Given the description of an element on the screen output the (x, y) to click on. 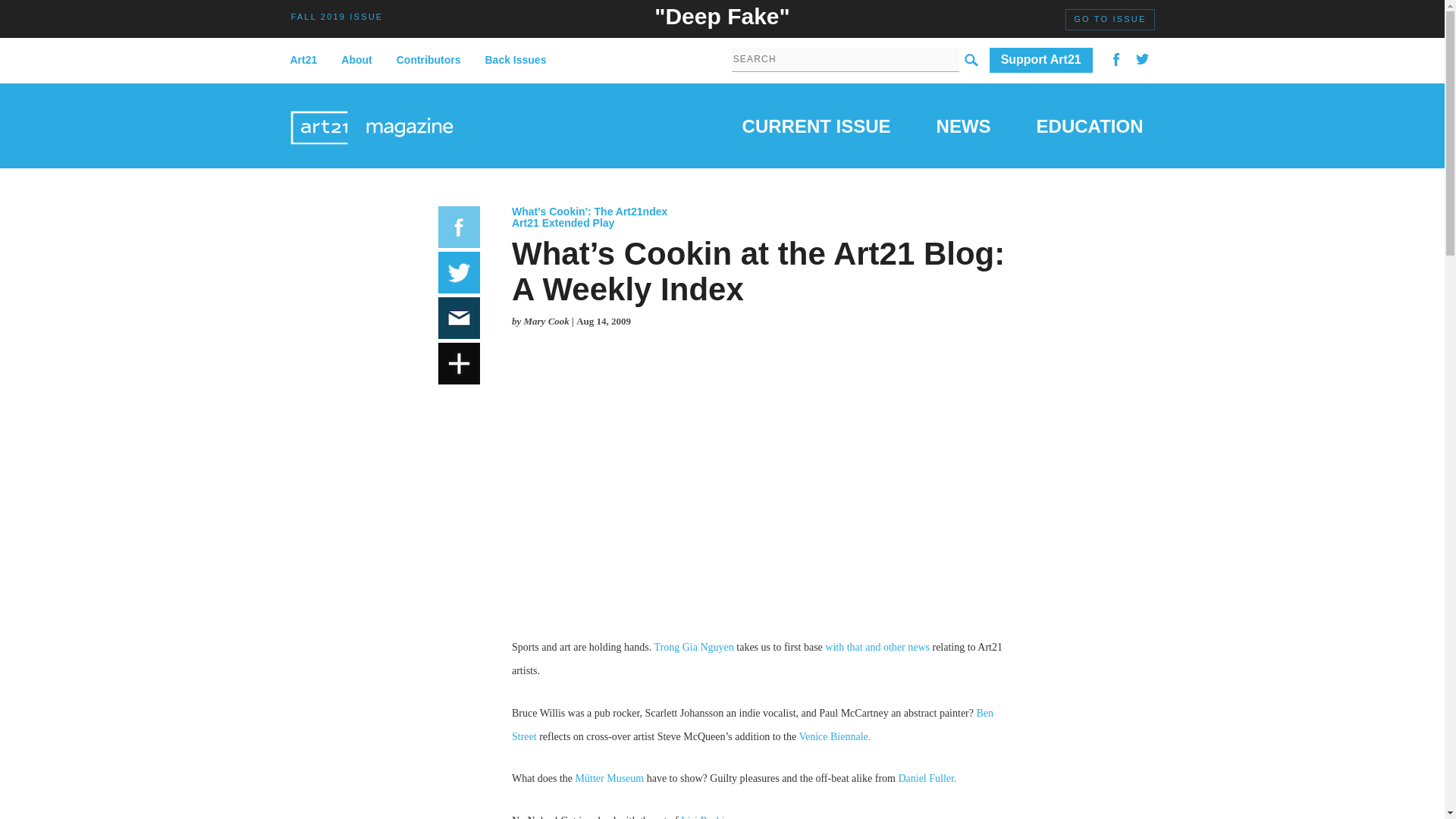
Lisi Raskin. (706, 816)
Ben Street (752, 724)
with that and other news (877, 646)
Art21 (309, 60)
Support Art21 (1041, 59)
Art21 Magazine (370, 109)
Back Issues (515, 60)
About (356, 60)
CURRENT ISSUE (816, 129)
Trong Gia Nguyen (693, 646)
Daniel Fuller. (927, 778)
NEWS (963, 129)
Contributors (428, 60)
FALL 2019 ISSUE (336, 16)
EDUCATION (1089, 129)
